Given the description of an element on the screen output the (x, y) to click on. 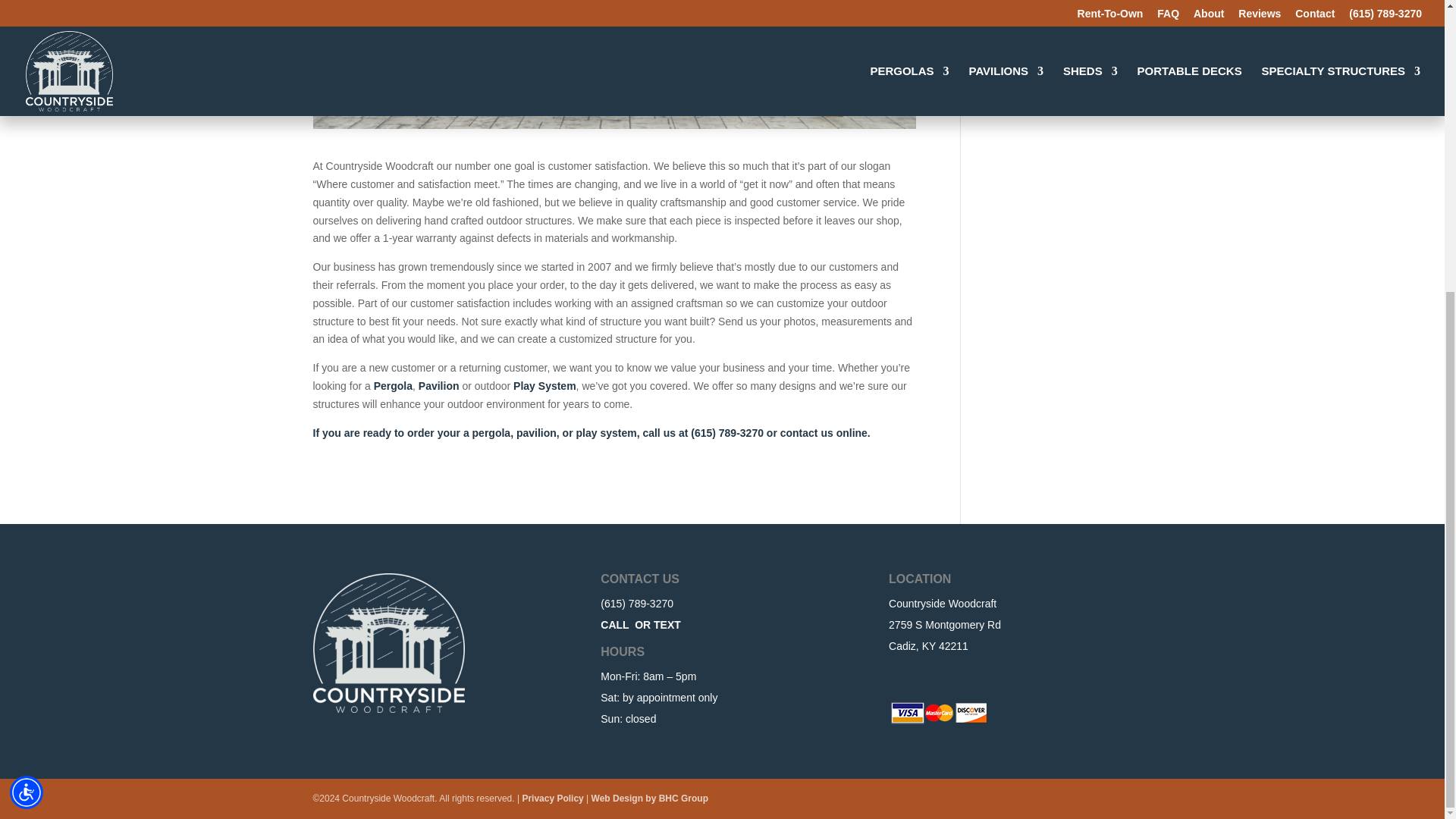
Accessibility Menu (26, 346)
